Given the description of an element on the screen output the (x, y) to click on. 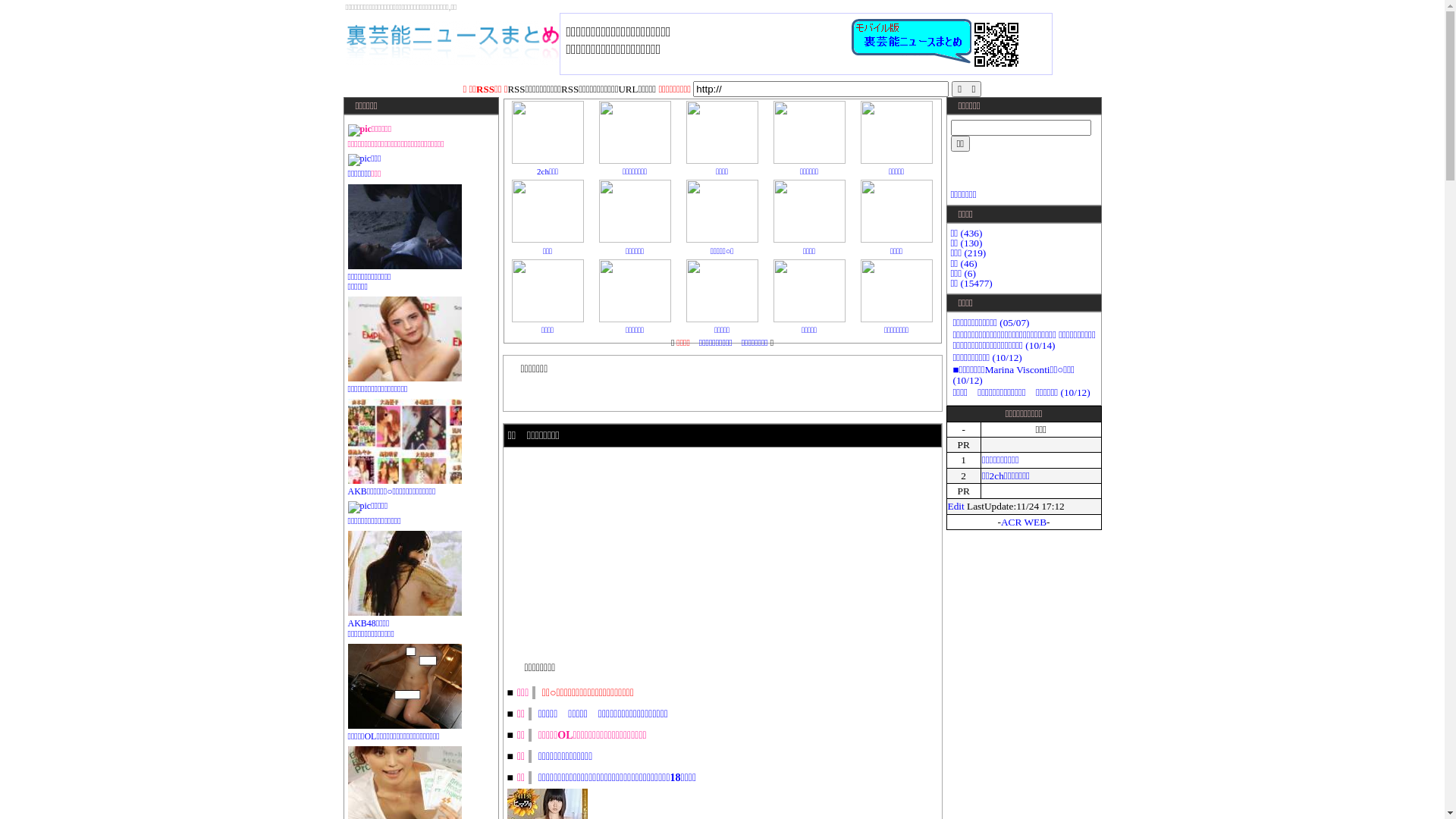
ACR WEB Element type: text (1023, 521)
Edit Element type: text (955, 505)
